Given the description of an element on the screen output the (x, y) to click on. 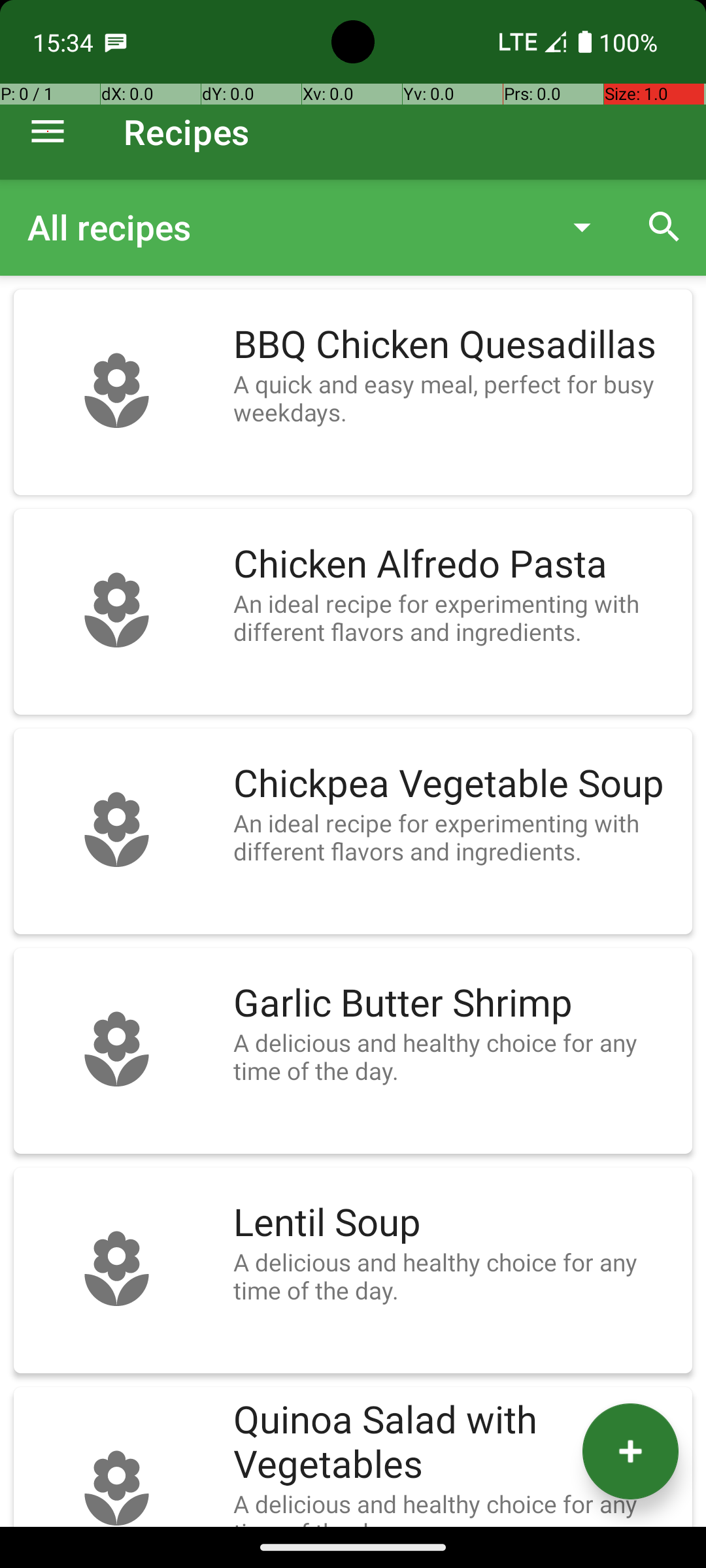
Garlic Butter Shrimp Element type: android.widget.TextView (455, 1003)
Quinoa Salad with Vegetables Element type: android.widget.TextView (455, 1442)
